Given the description of an element on the screen output the (x, y) to click on. 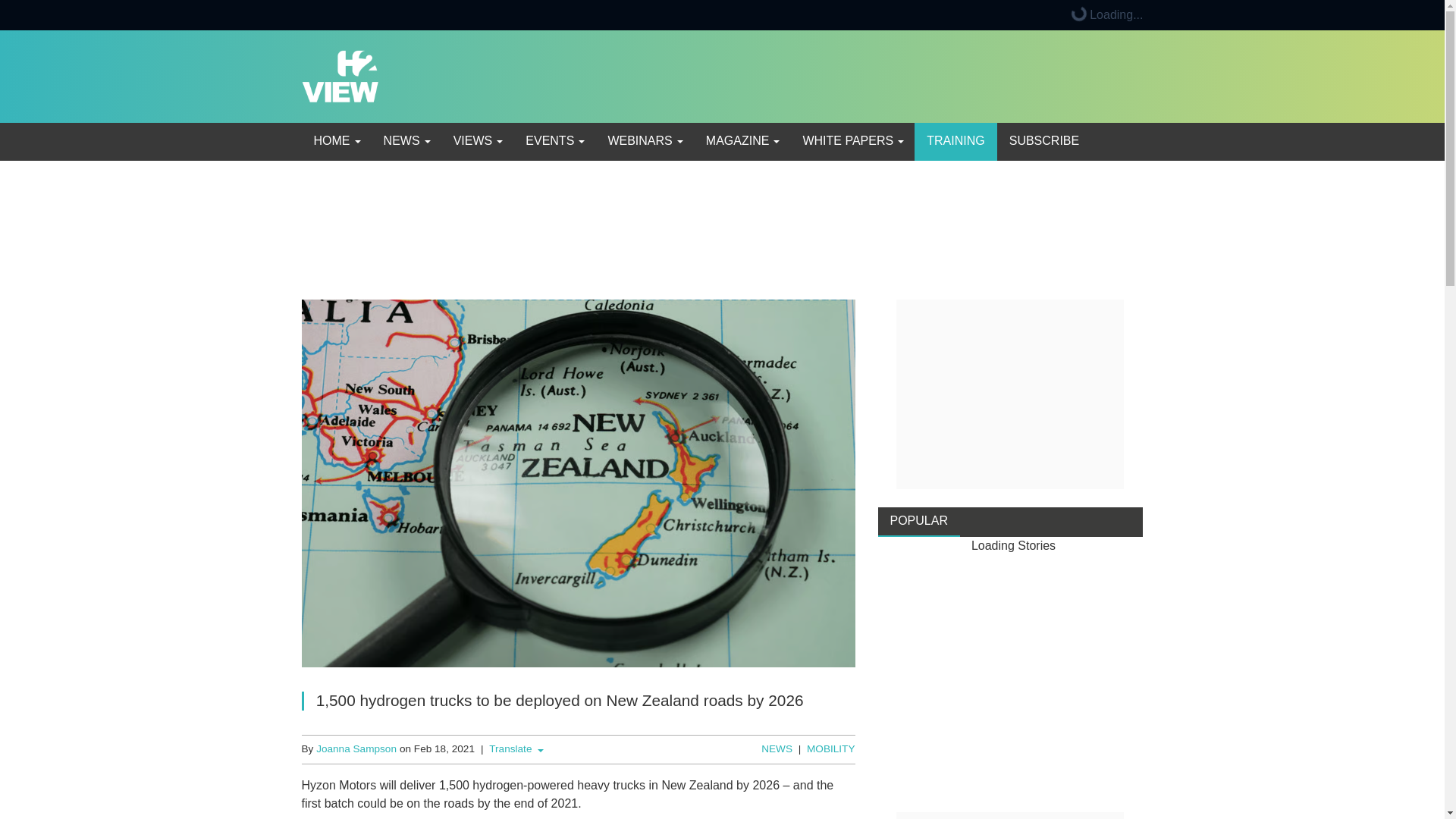
H2 View (339, 74)
News (406, 140)
Home (336, 140)
HOME (336, 140)
VIEWS (477, 140)
NEWS (406, 140)
